Given the description of an element on the screen output the (x, y) to click on. 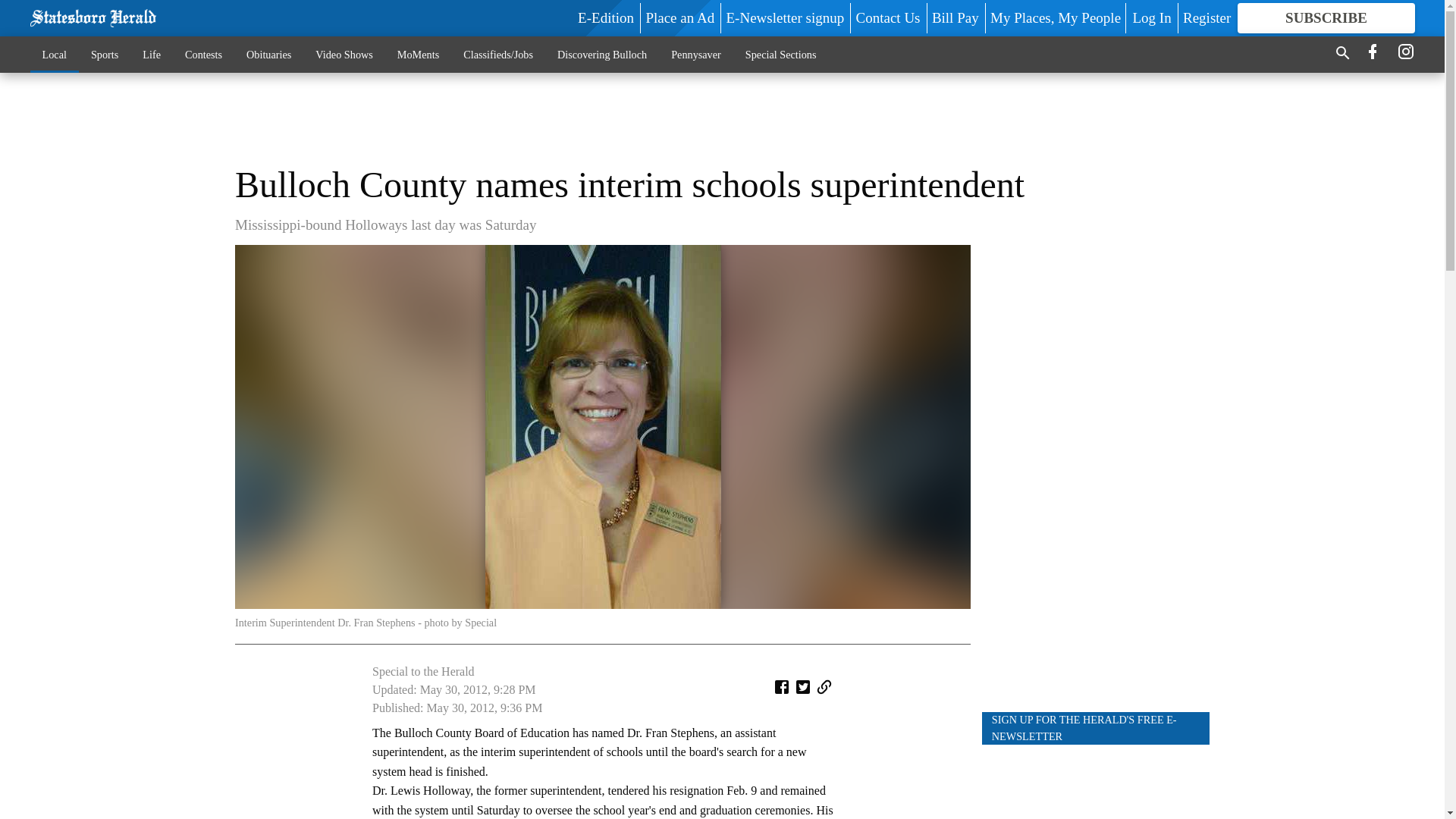
SUBSCRIBE (1325, 18)
Contact Us (888, 17)
Sports (104, 54)
Life (152, 54)
E-Newsletter signup (785, 17)
Discovering Bulloch (601, 54)
Bill Pay (954, 17)
Video Shows (343, 54)
My Places, My People (1055, 17)
3rd party ad content (721, 119)
